Given the description of an element on the screen output the (x, y) to click on. 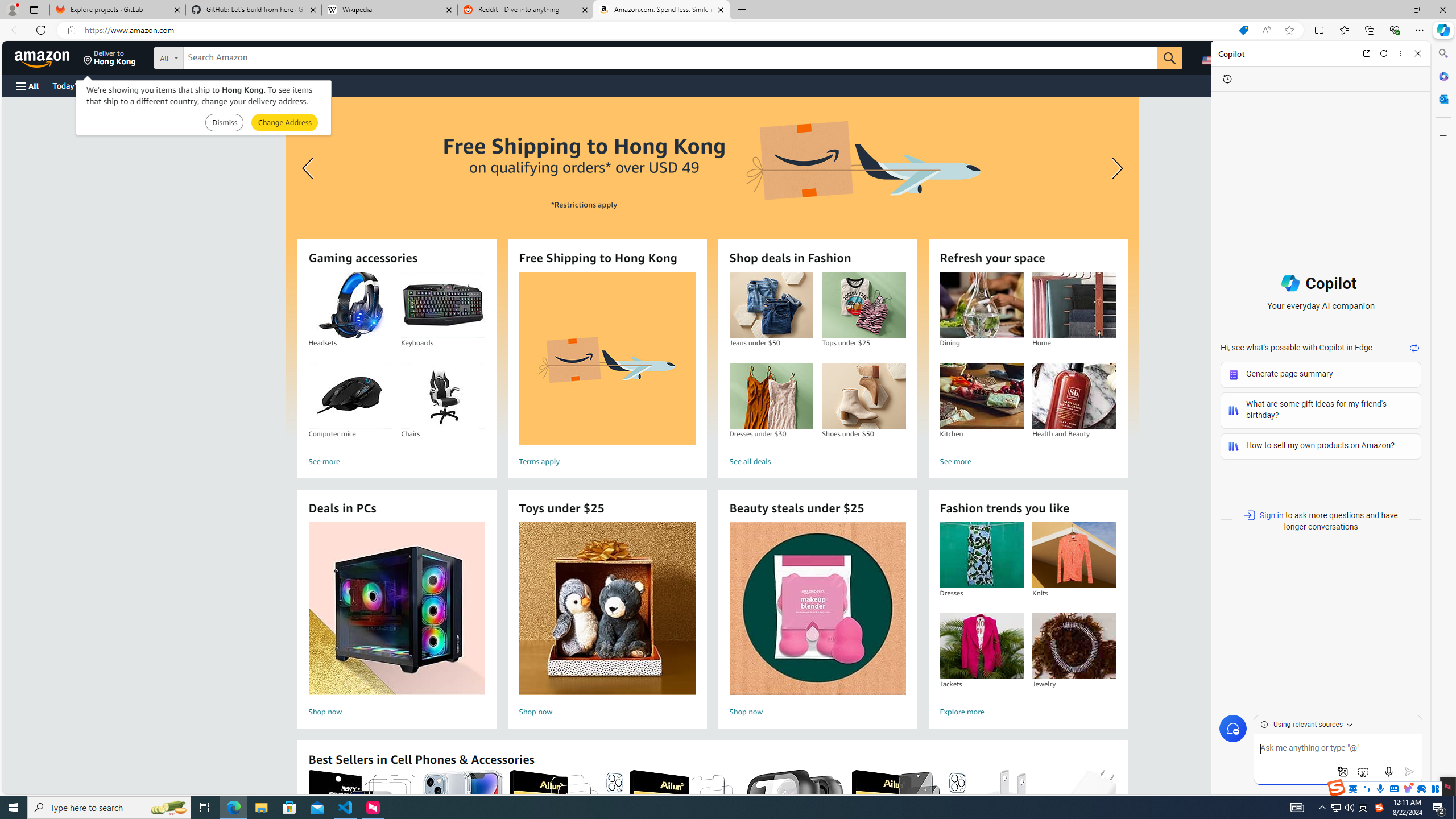
Beauty steals under $25 Shop now (817, 620)
Kitchen (981, 395)
0 items in cart (1389, 57)
Jeans under $50 (771, 304)
Choose a language for shopping. (1216, 57)
Jackets (981, 645)
Chairs (442, 395)
Health and Beauty (1074, 395)
Gift Cards (251, 85)
Dresses (981, 555)
